Given the description of an element on the screen output the (x, y) to click on. 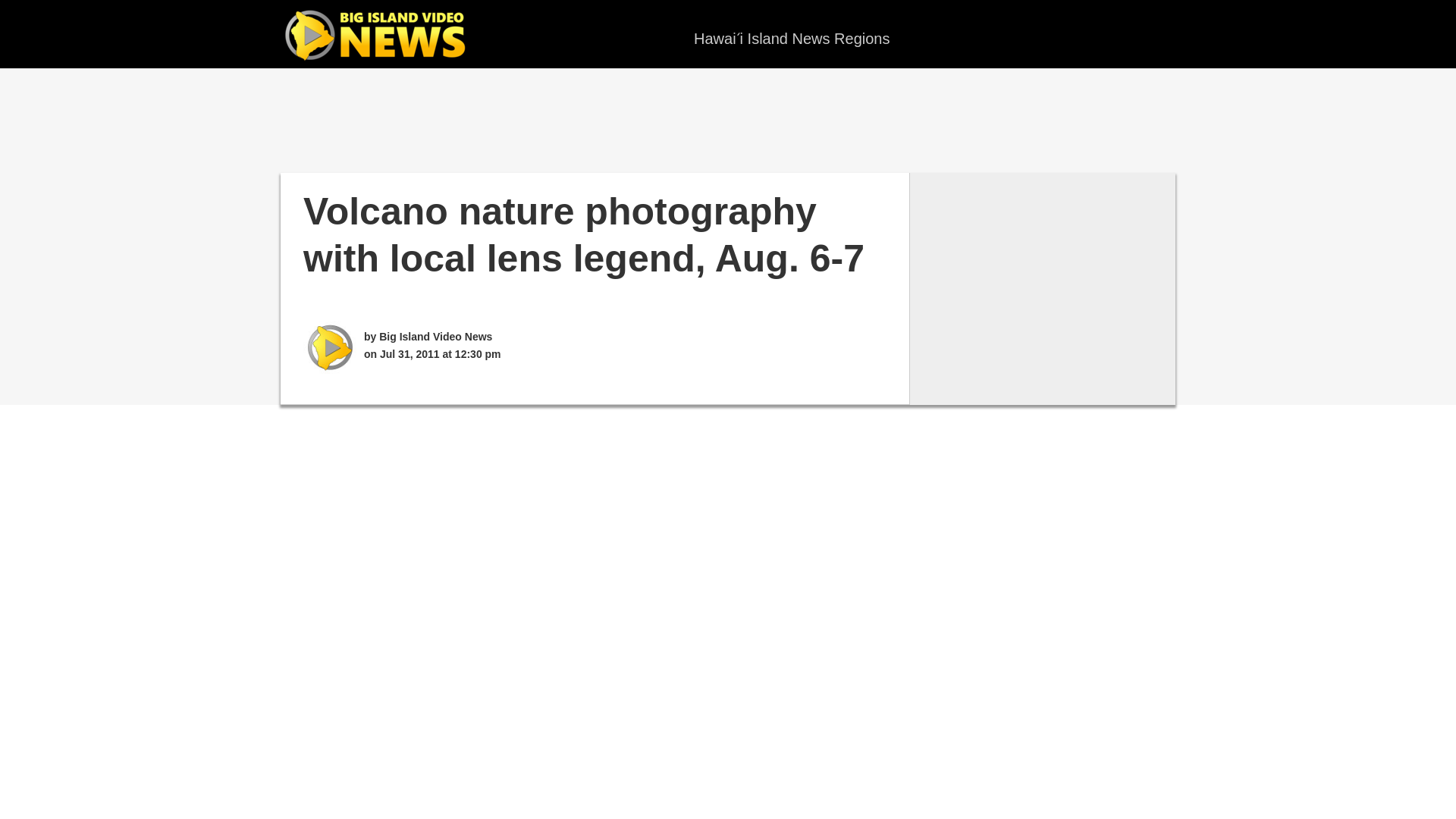
Big Island Video News (379, 35)
